Given the description of an element on the screen output the (x, y) to click on. 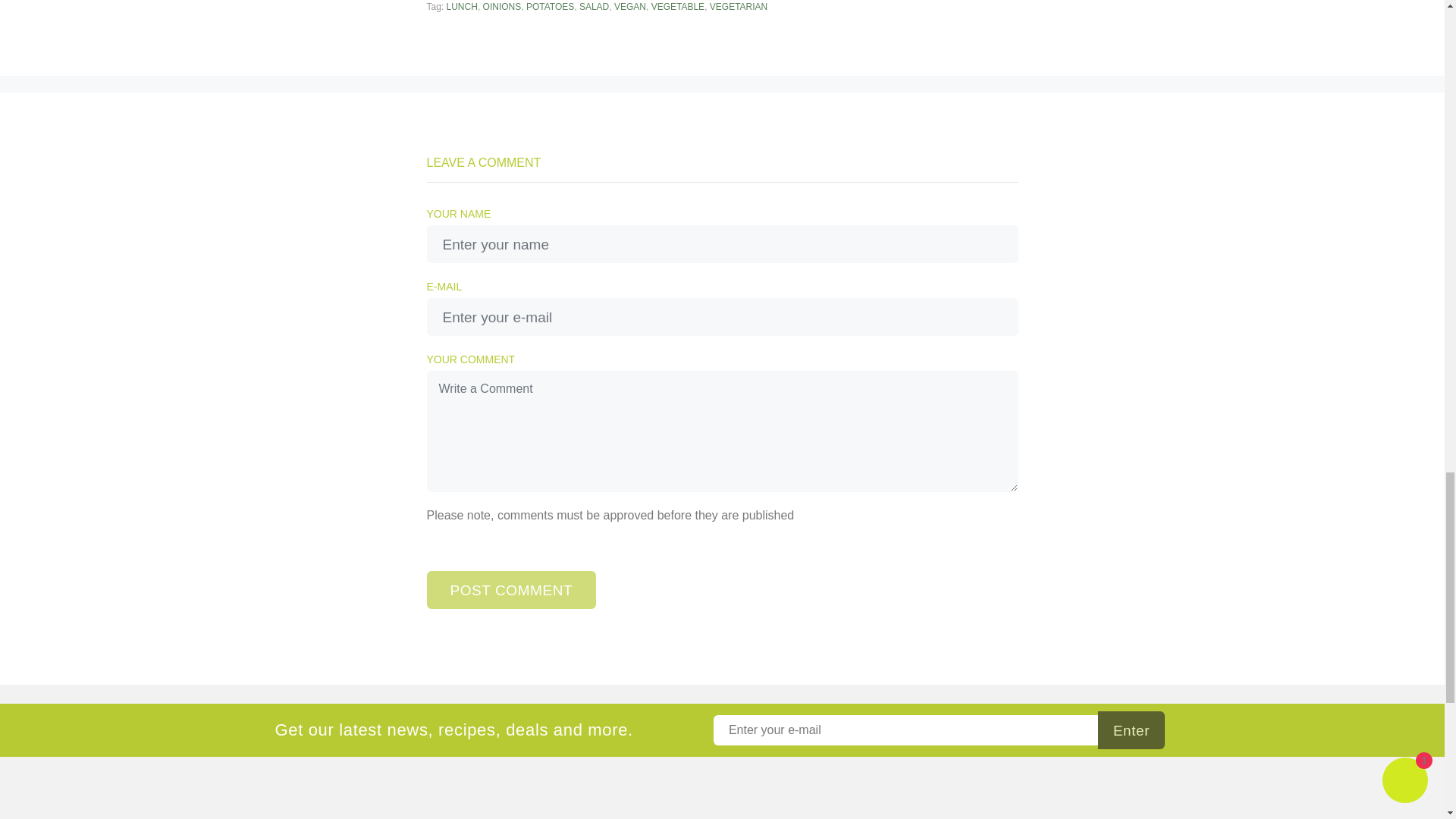
Show articles tagged vegan (630, 6)
Show articles tagged oinions (502, 6)
Show articles tagged vegetable (677, 6)
Show articles tagged vegetarian (738, 6)
Show articles tagged salad (593, 6)
Show articles tagged potatoes (549, 6)
Show articles tagged lunch (461, 6)
